Given the description of an element on the screen output the (x, y) to click on. 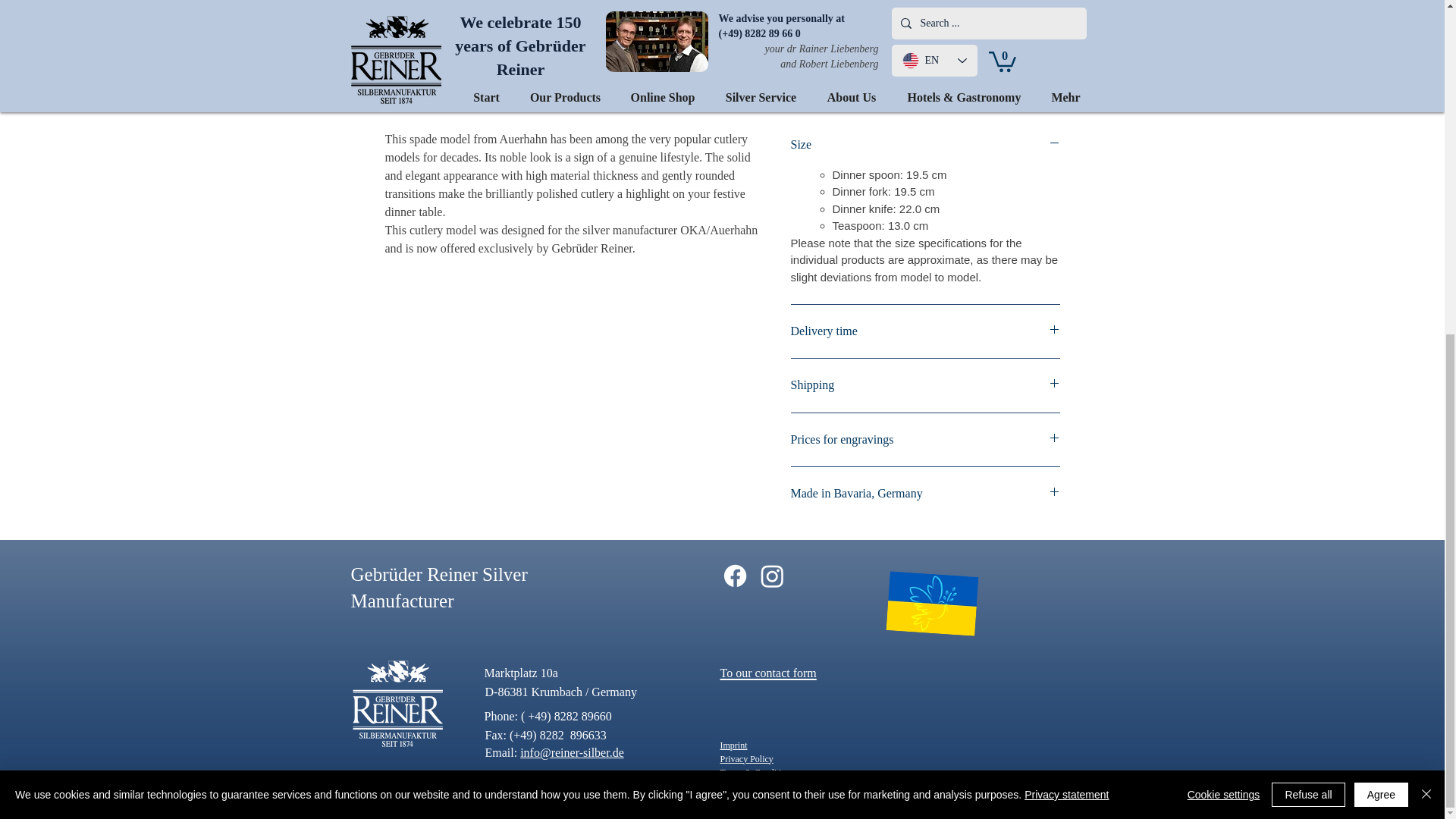
Delivery time (924, 330)
Add to Cart (924, 84)
Size (924, 144)
1 (823, 27)
Here you will find an overview of our menu cutlery. (512, 102)
